Given the description of an element on the screen output the (x, y) to click on. 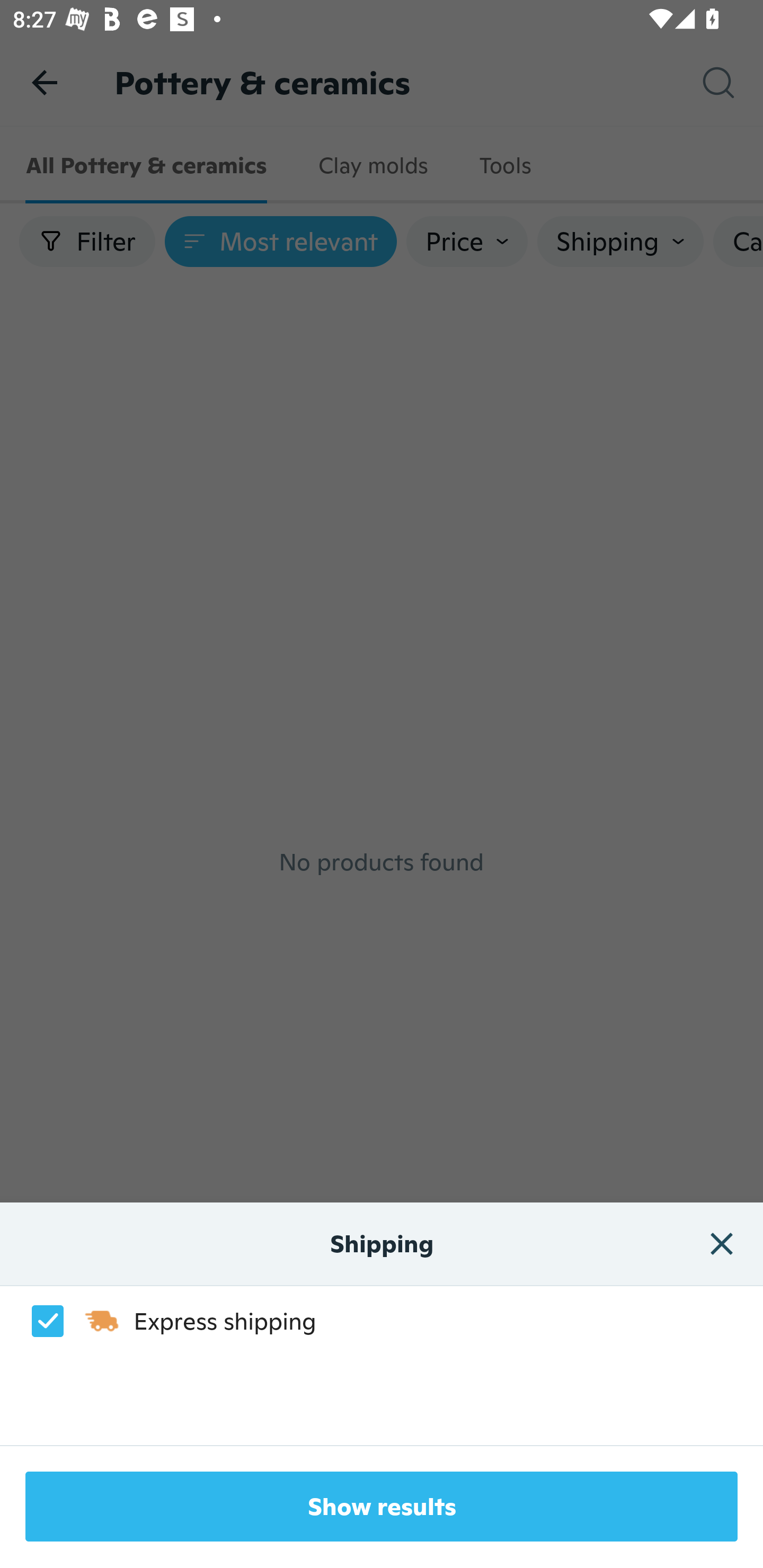
Express shipping (164, 1320)
Show results (381, 1506)
